Given the description of an element on the screen output the (x, y) to click on. 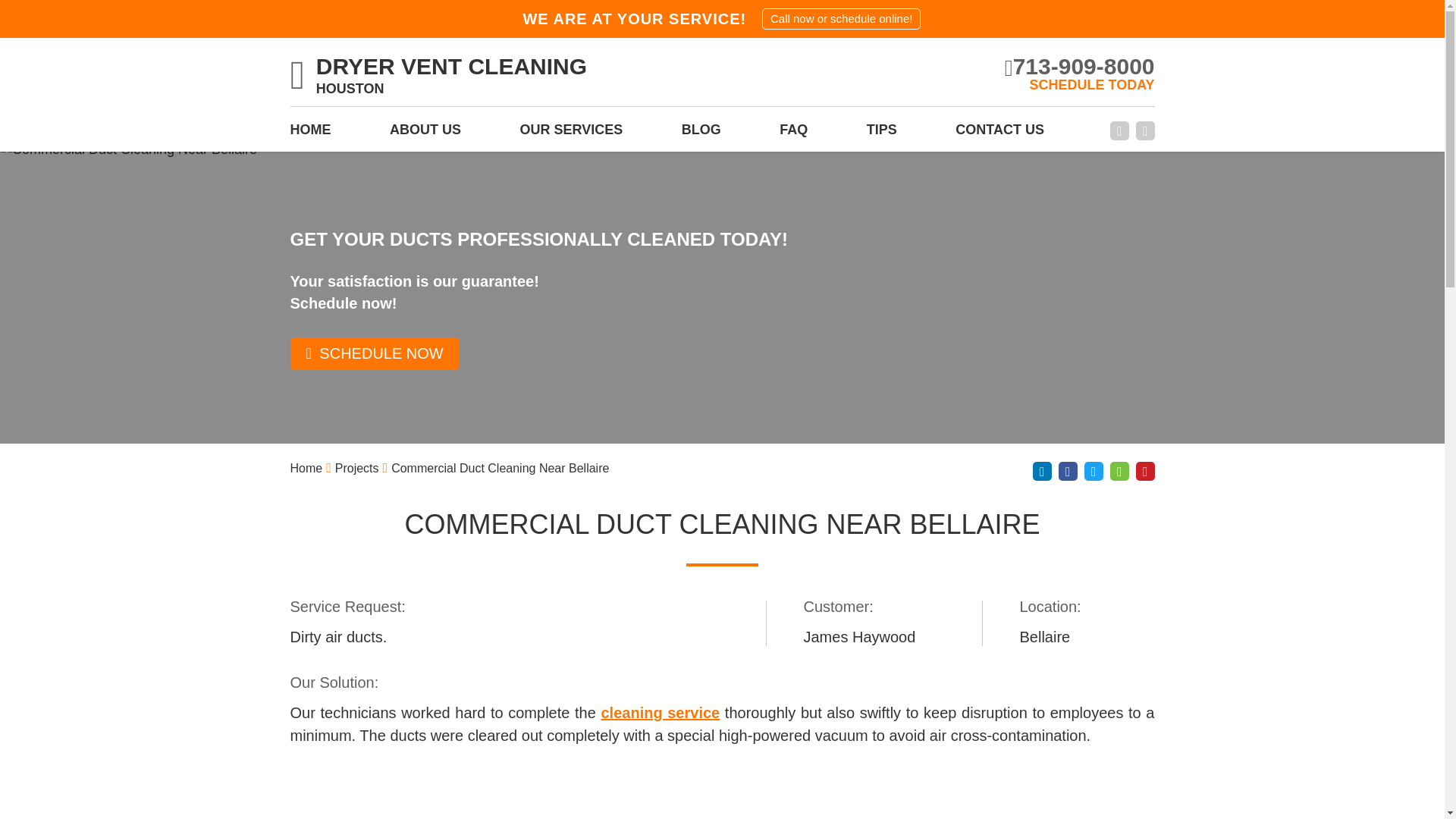
Twitter (1093, 470)
Dryer Vent Cleaning Houston (437, 76)
YouTube (1144, 130)
Facebook (1119, 130)
BLOG (700, 134)
TIPS (881, 134)
Commercial duct cleaning (659, 712)
CONTACT US (999, 134)
Linkedin (1041, 470)
OUR SERVICES (571, 134)
ABOUT US (425, 134)
Home (305, 468)
Facebook (1067, 470)
Click here to enter Home page (305, 468)
cleaning service (659, 712)
